Given the description of an element on the screen output the (x, y) to click on. 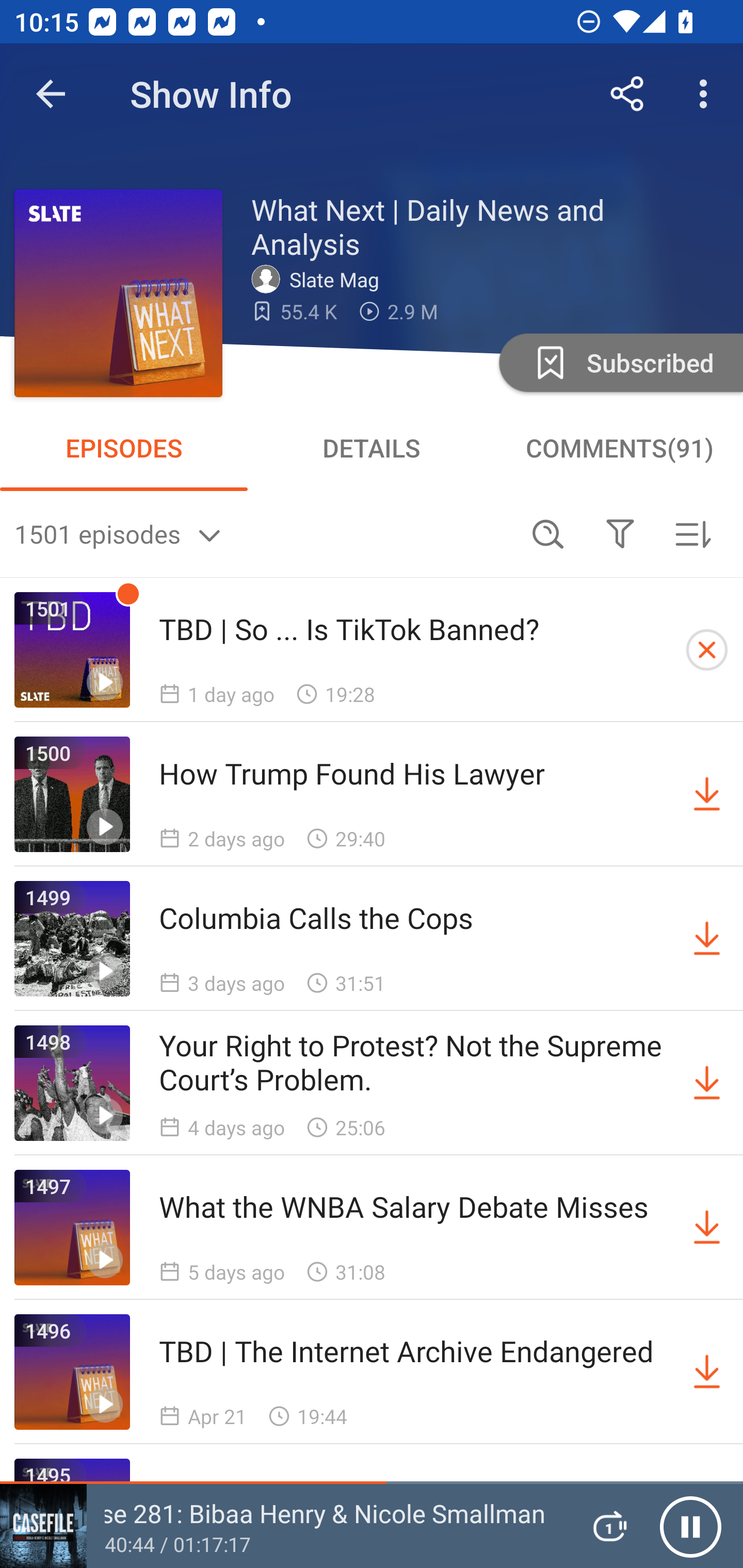
Navigate up (50, 93)
Share (626, 93)
More options (706, 93)
Slate Mag (319, 278)
Unsubscribe Subscribed (619, 361)
EPISODES (123, 447)
DETAILS (371, 447)
COMMENTS(91) (619, 447)
1501 episodes  (262, 533)
 Search (547, 533)
 (619, 533)
 Sorted by newest first (692, 533)
Cancel Downloading (706, 649)
Download (706, 793)
Download (706, 939)
Download (706, 1083)
Download (706, 1227)
Download (706, 1371)
Pause (690, 1526)
